Given the description of an element on the screen output the (x, y) to click on. 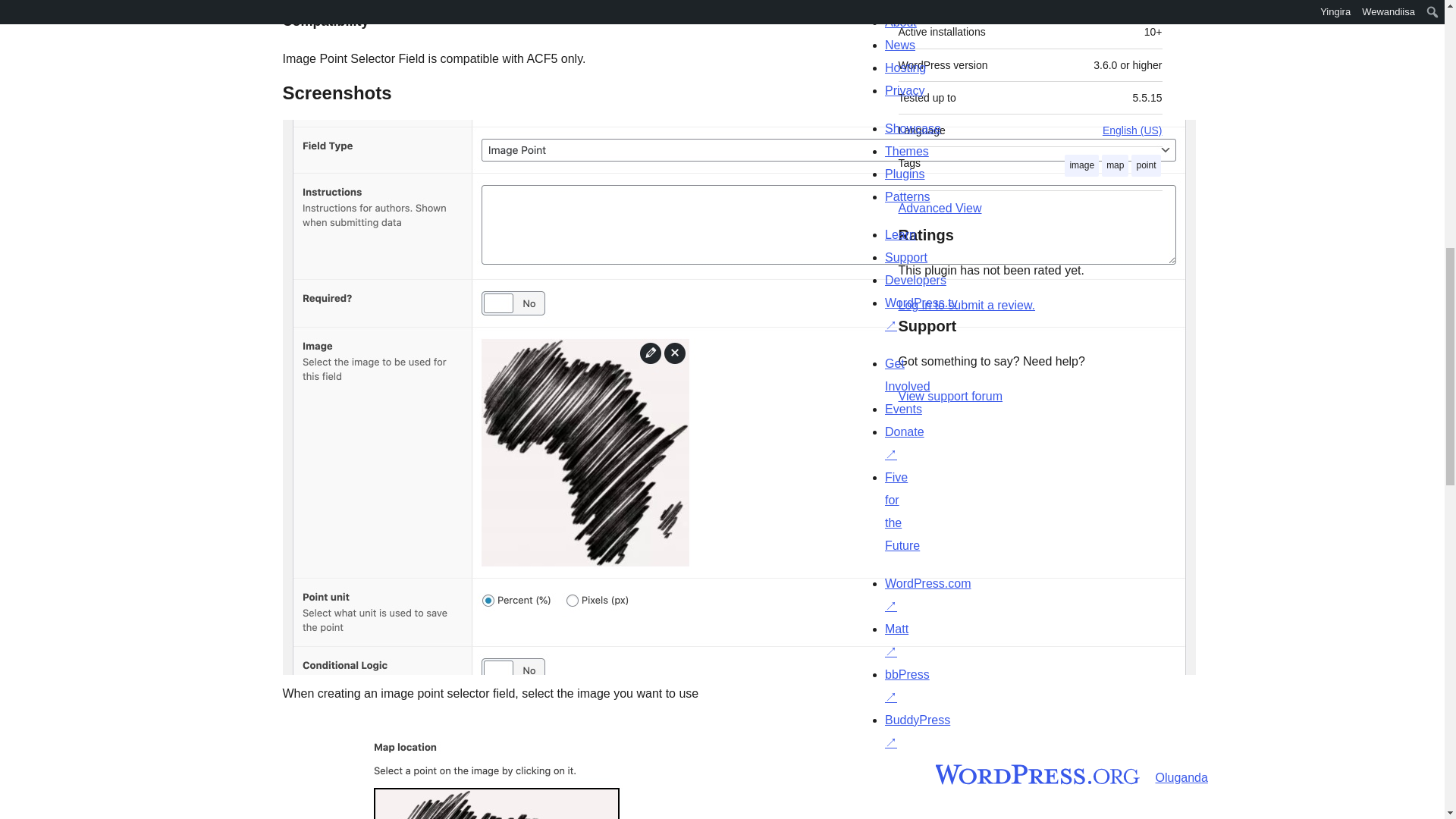
WordPress.org (864, 773)
WordPress.org (1014, 773)
Log in to WordPress.org (966, 305)
